Given the description of an element on the screen output the (x, y) to click on. 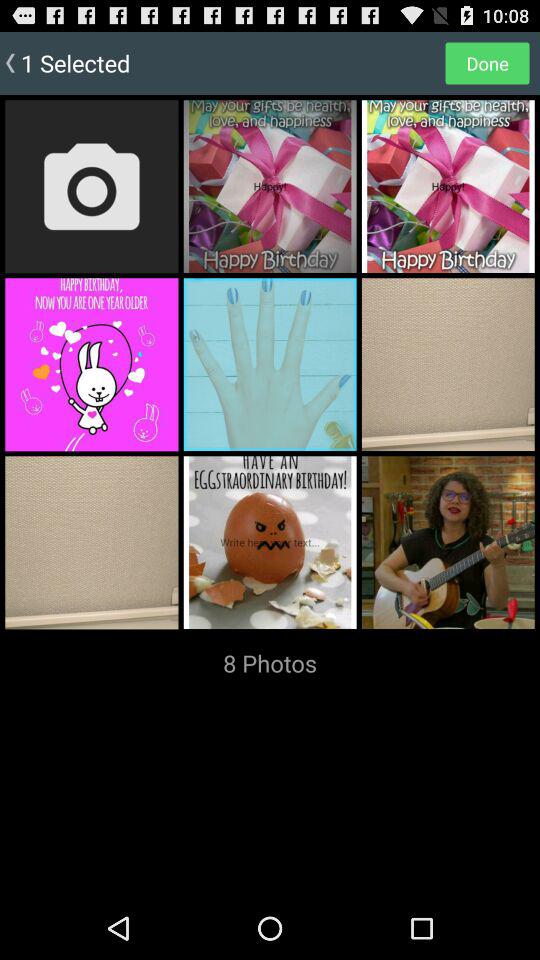
tap done button (487, 62)
